Given the description of an element on the screen output the (x, y) to click on. 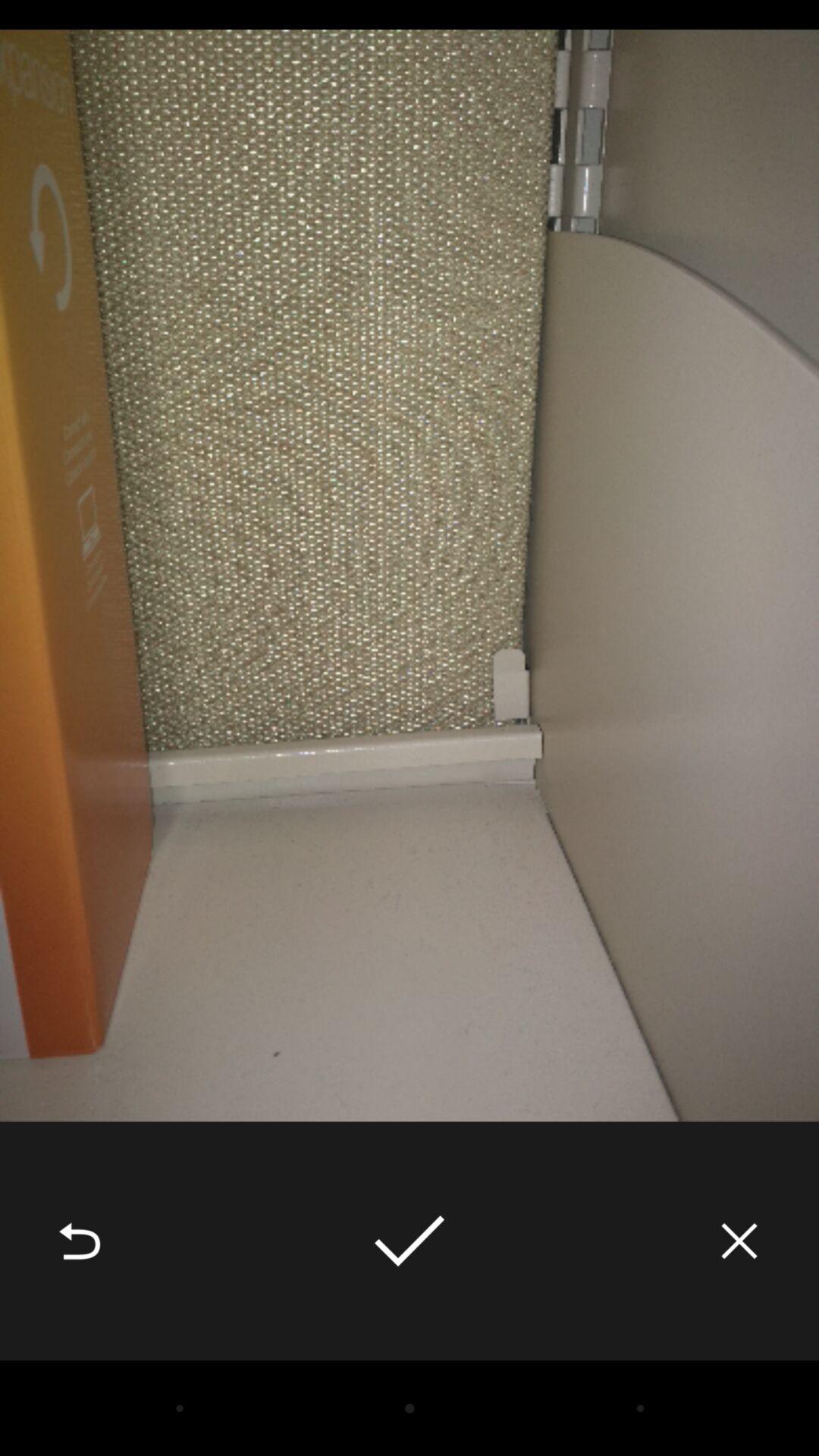
turn off the icon at the bottom right corner (739, 1240)
